Given the description of an element on the screen output the (x, y) to click on. 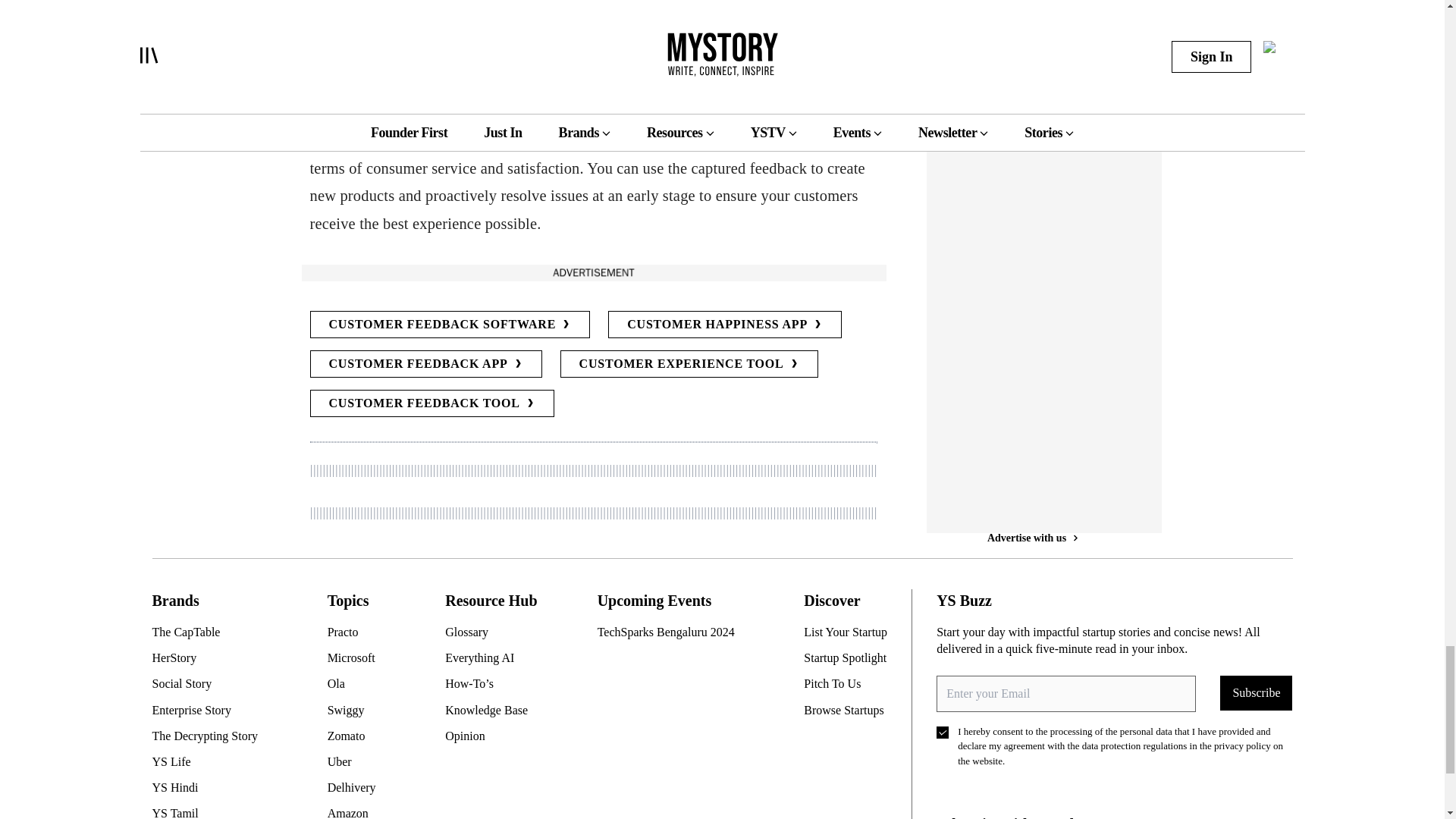
CUSTOMER FEEDBACK SOFTWARE (448, 324)
CUSTOMER FEEDBACK TOOL (430, 402)
customer satisfaction survey software (585, 98)
CUSTOMER FEEDBACK APP (424, 363)
CUSTOMER HAPPINESS APP (724, 324)
Advertise with us (592, 272)
CUSTOMER EXPERIENCE TOOL (689, 363)
